Given the description of an element on the screen output the (x, y) to click on. 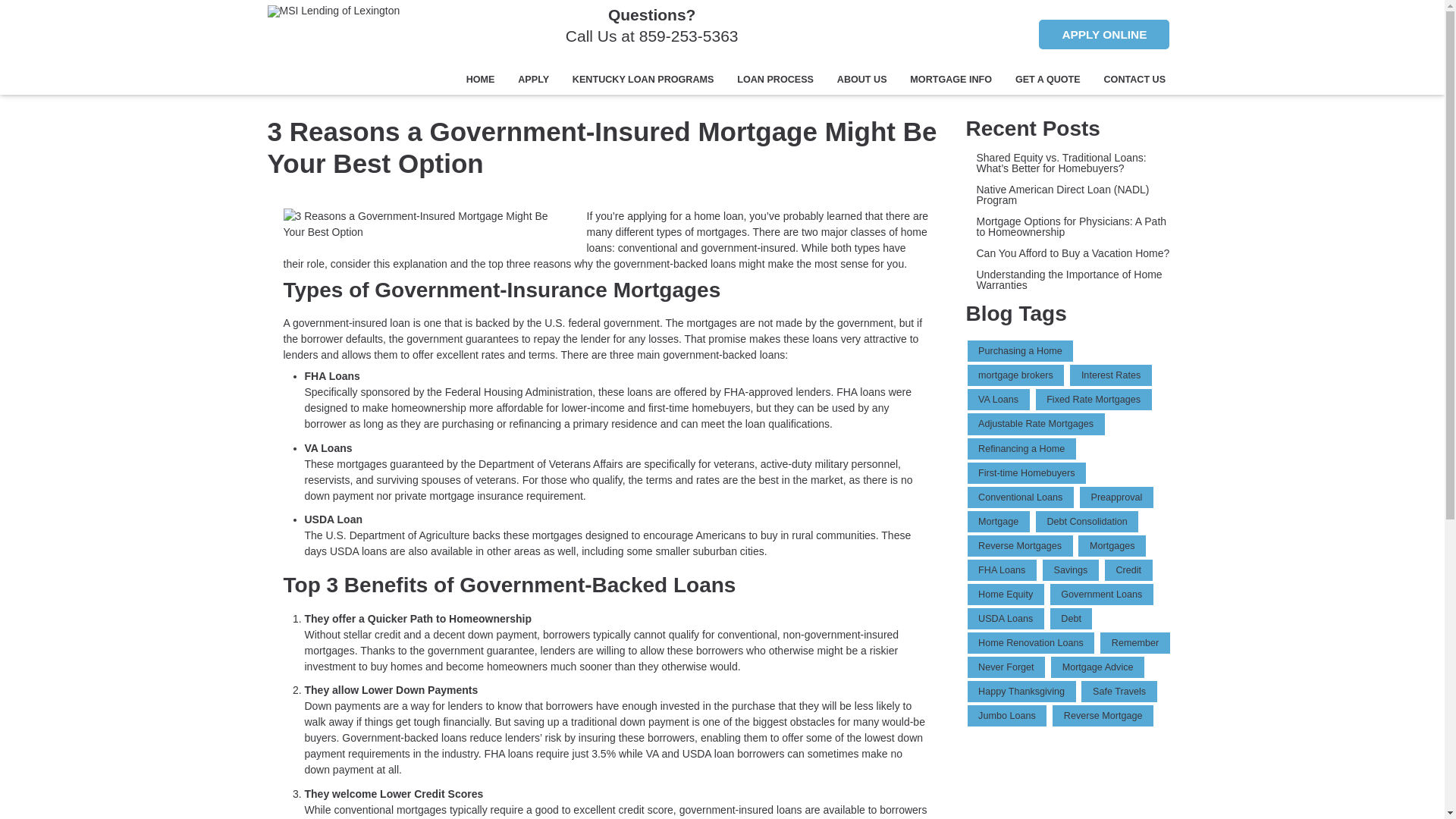
APPLY ONLINE (1104, 34)
CONTACT US (1134, 79)
ABOUT US (861, 79)
KENTUCKY LOAN PROGRAMS (642, 79)
GET A QUOTE (1047, 79)
APPLY (533, 79)
HOME (480, 79)
MORTGAGE INFO (951, 79)
LOAN PROCESS (775, 79)
